Given the description of an element on the screen output the (x, y) to click on. 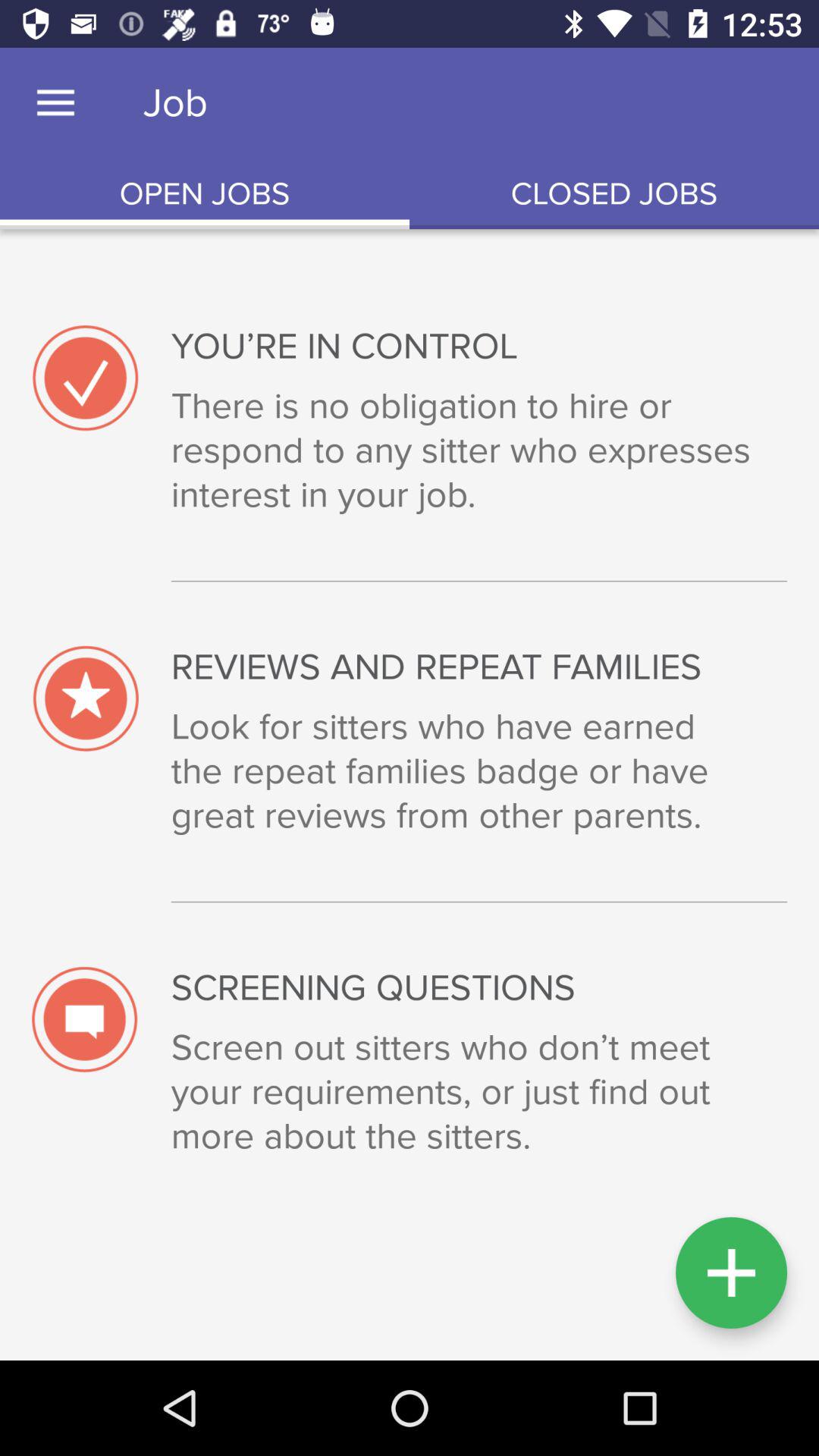
press item next to the open jobs icon (614, 194)
